Given the description of an element on the screen output the (x, y) to click on. 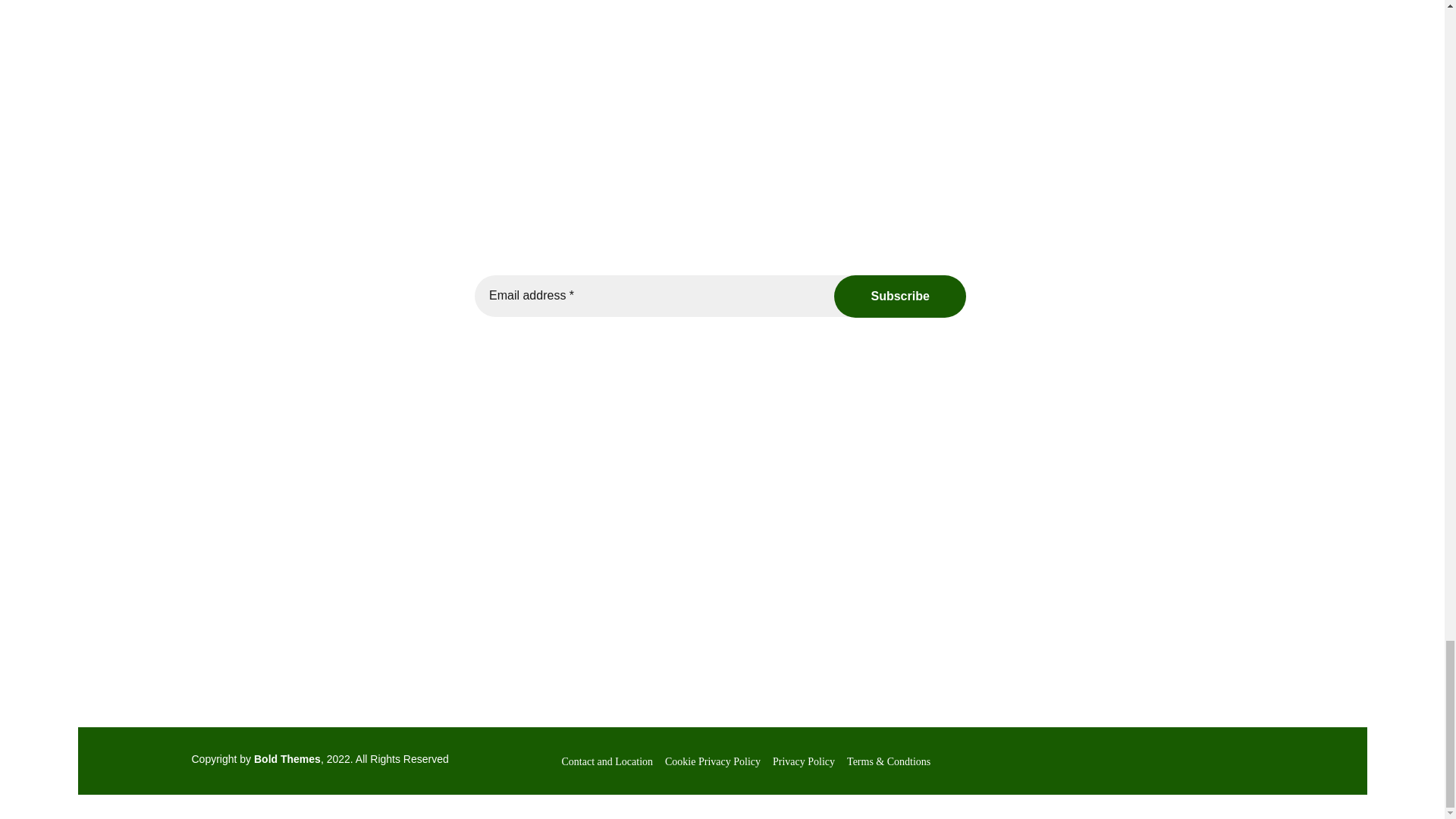
Bold Themes (286, 758)
Subscribe (899, 296)
Contact and Location (606, 761)
Subscribe (899, 296)
